Given the description of an element on the screen output the (x, y) to click on. 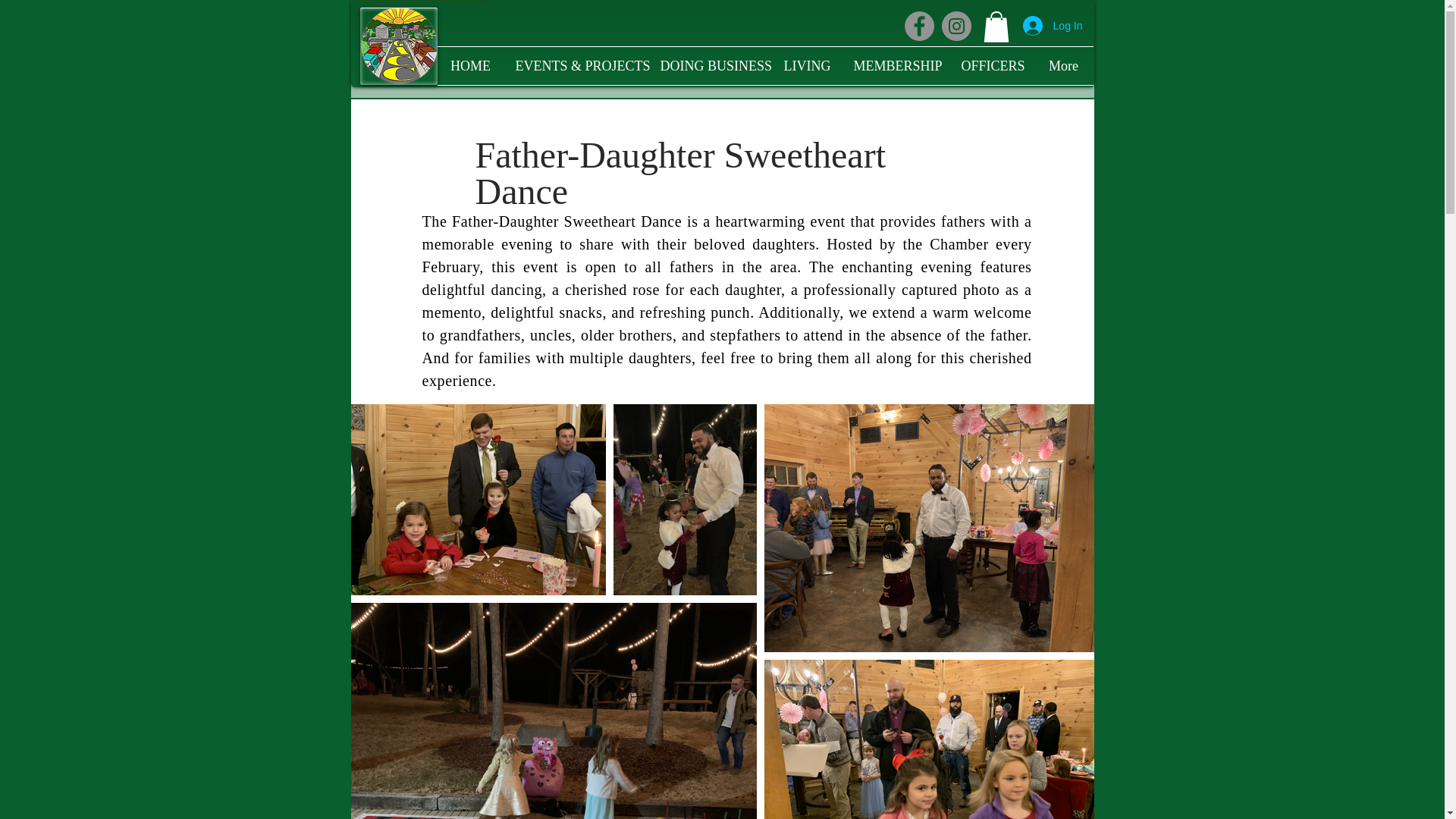
OFFICERS (991, 65)
DOING BUSINESS (711, 65)
Log In (1052, 25)
HOME (469, 65)
MEMBERSHIP (895, 65)
LIVING (806, 65)
